Given the description of an element on the screen output the (x, y) to click on. 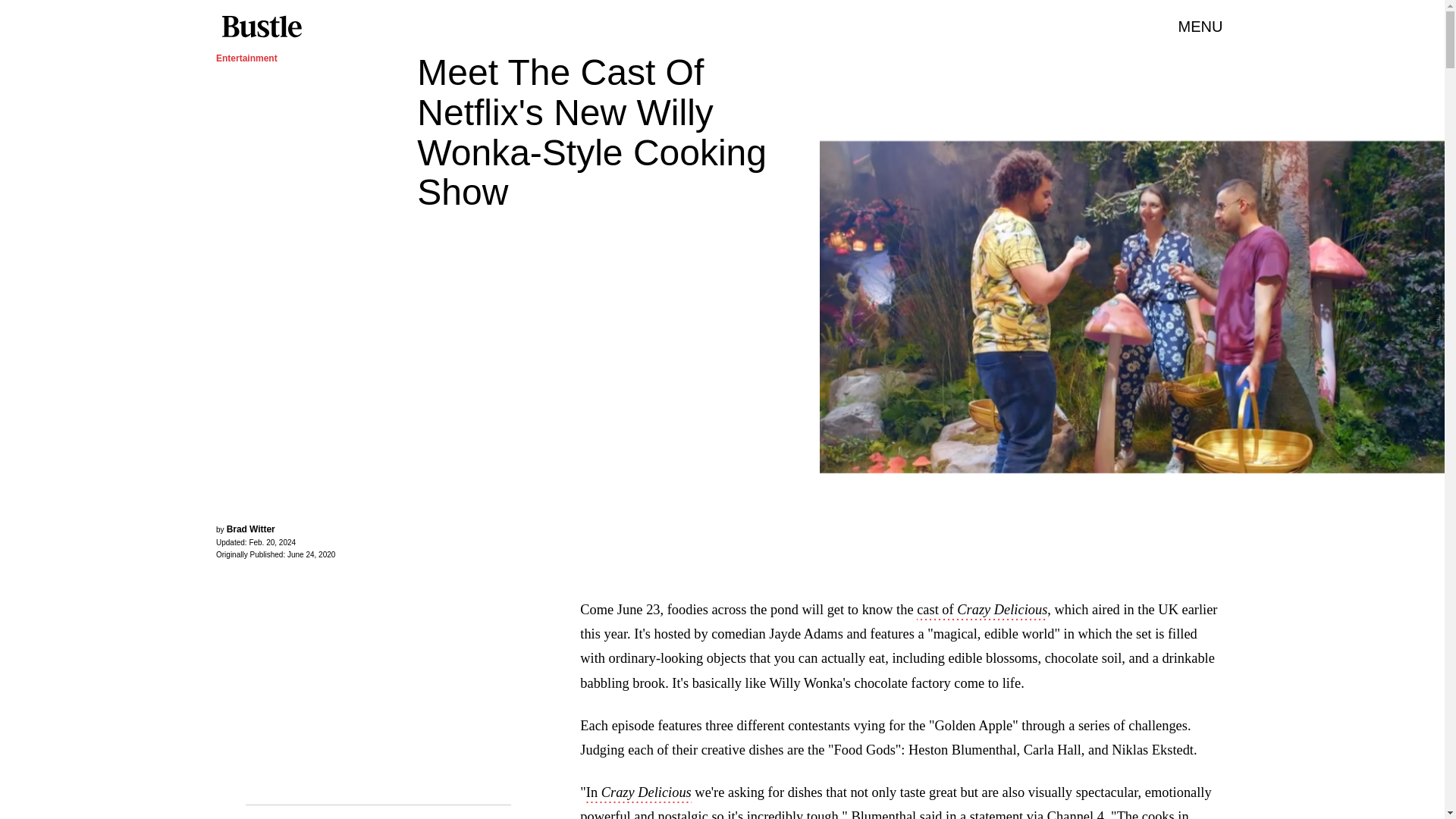
Bustle (261, 26)
cast of Crazy Delicious (981, 610)
Brad Witter (251, 529)
In Crazy Delicious (638, 793)
